Given the description of an element on the screen output the (x, y) to click on. 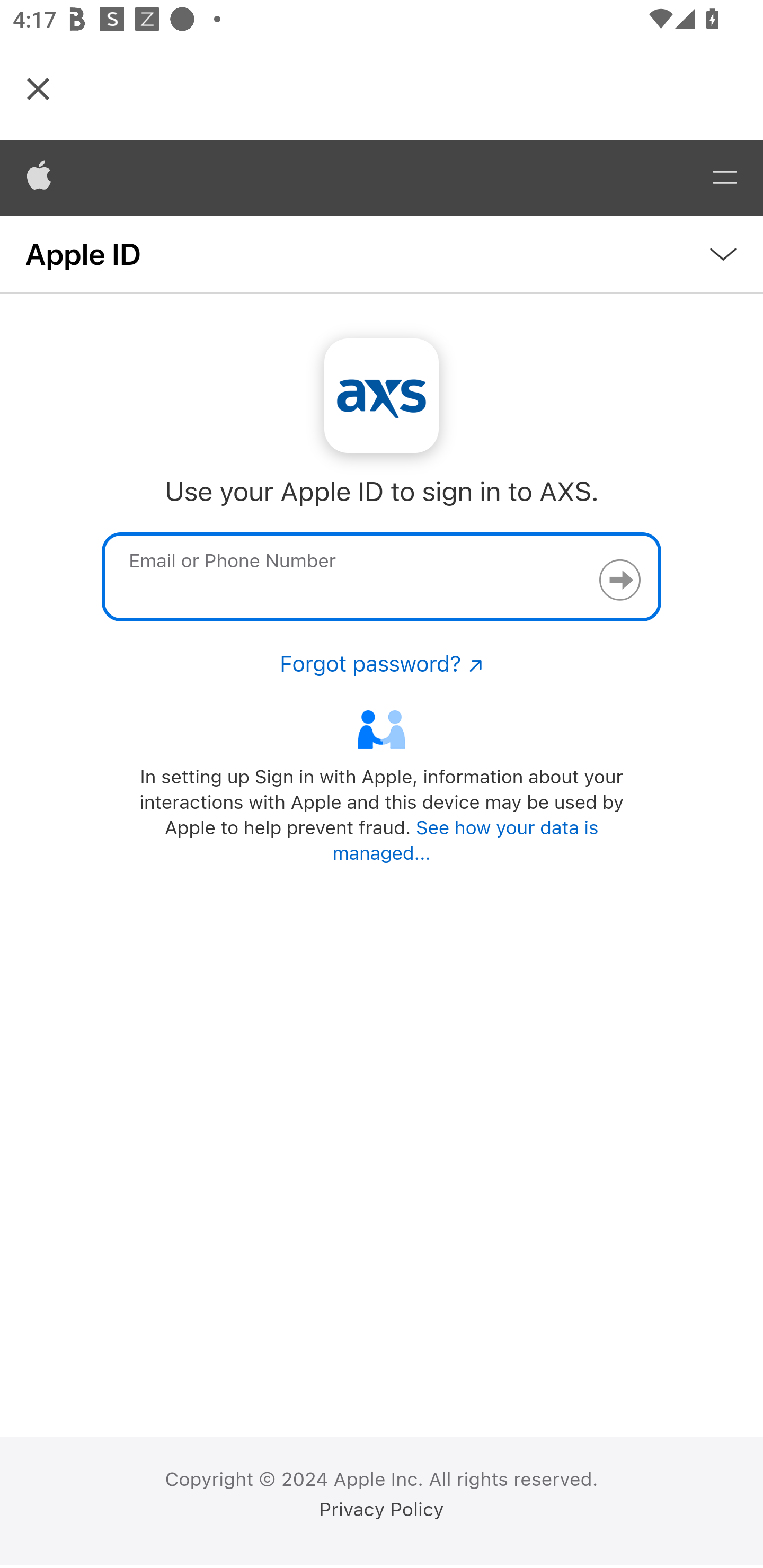
Close (38, 88)
Apple (38, 177)
Menu (724, 177)
Continue (618, 579)
Privacy Policy (381, 1509)
